Given the description of an element on the screen output the (x, y) to click on. 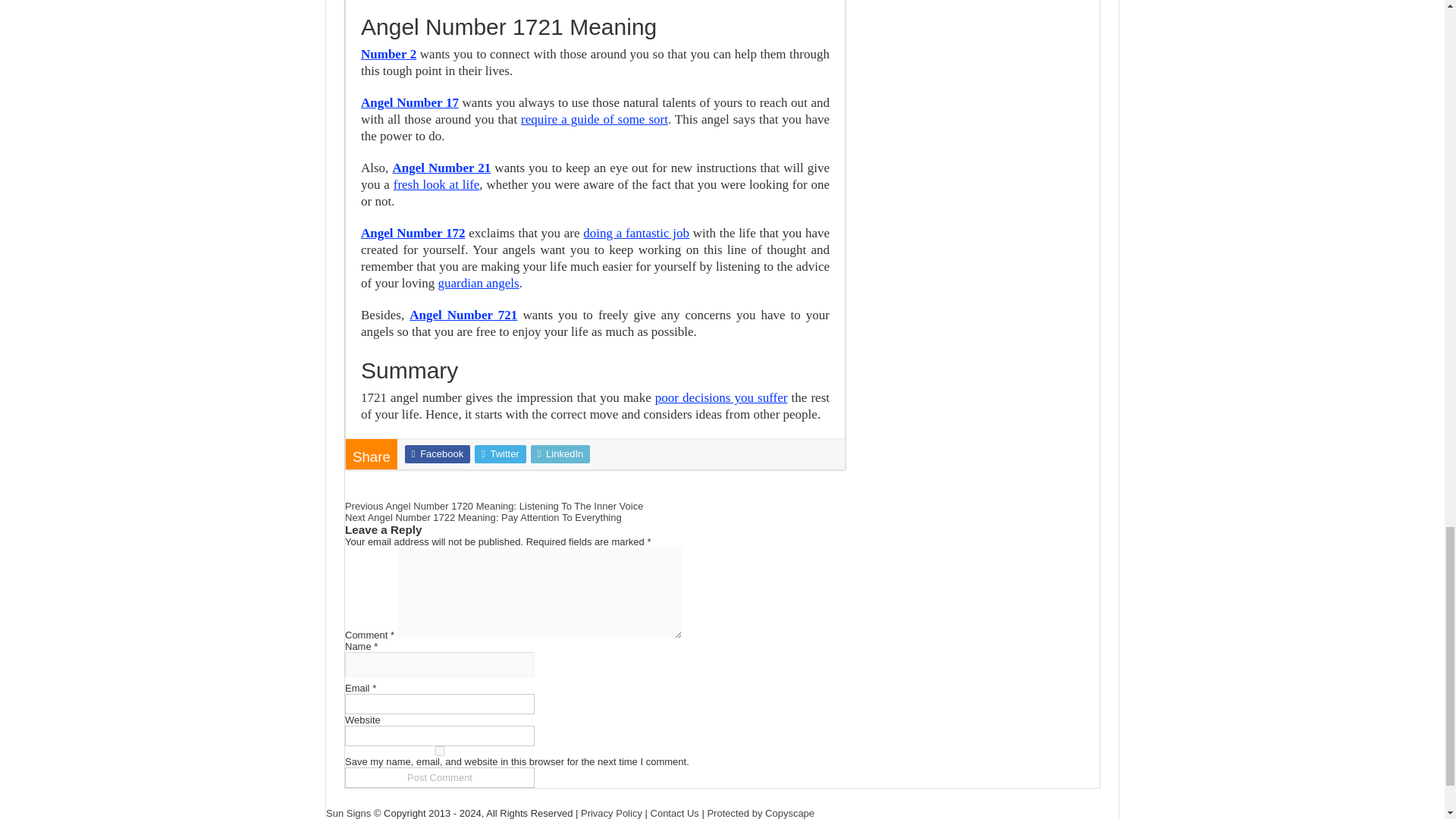
require a guide of some sort (594, 119)
yes (439, 750)
Post Comment (439, 777)
Facebook (437, 454)
Angel Number 17 (409, 102)
doing a fantastic job (635, 233)
Number 2 (388, 53)
Angel Number 721 (462, 314)
Twitter (499, 454)
Angel Number 21 (440, 167)
